Given the description of an element on the screen output the (x, y) to click on. 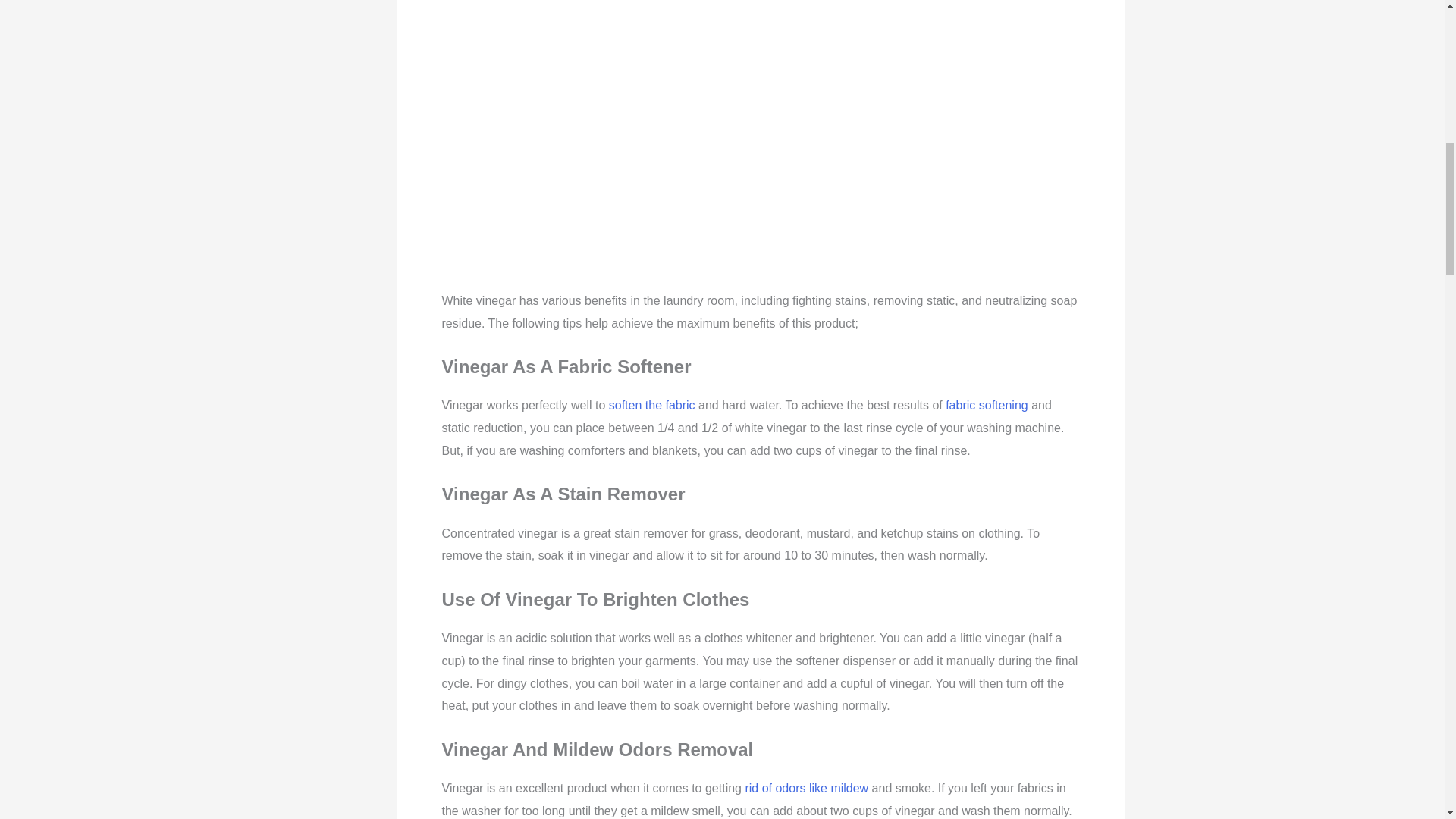
soften the fabric (653, 404)
rid of odors like mildew (805, 788)
fabric softening (985, 404)
